Given the description of an element on the screen output the (x, y) to click on. 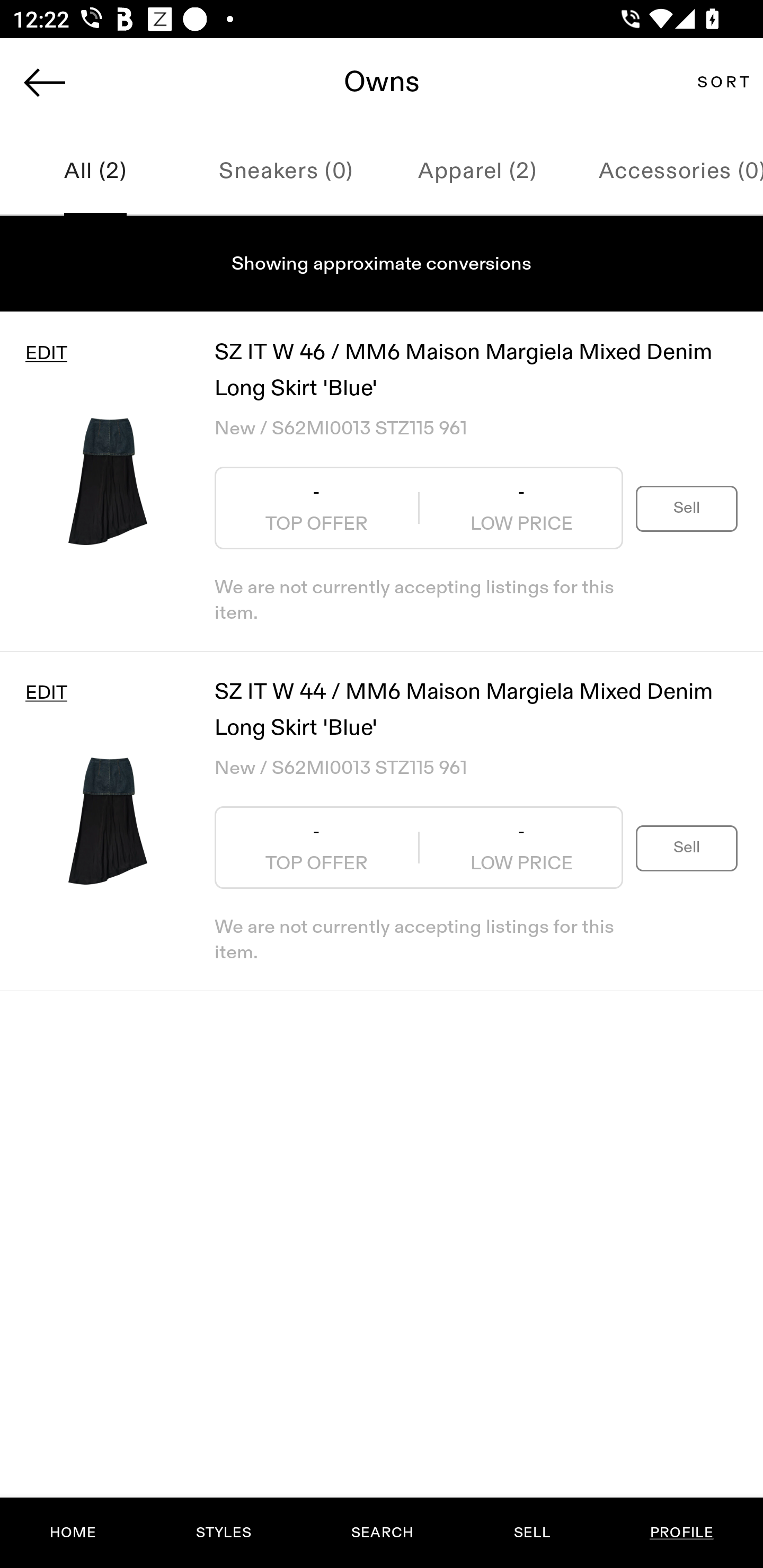
SORT (722, 81)
Sneakers (0) (285, 171)
Apparel (2) (476, 171)
Accessories (0) (667, 171)
EDIT (46, 352)
- - TOP OFFER LOW PRICE (418, 507)
Sell (686, 507)
EDIT (46, 692)
- - TOP OFFER LOW PRICE (418, 847)
Sell (686, 847)
HOME (72, 1532)
STYLES (222, 1532)
SEARCH (381, 1532)
SELL (531, 1532)
PROFILE (681, 1532)
